Given the description of an element on the screen output the (x, y) to click on. 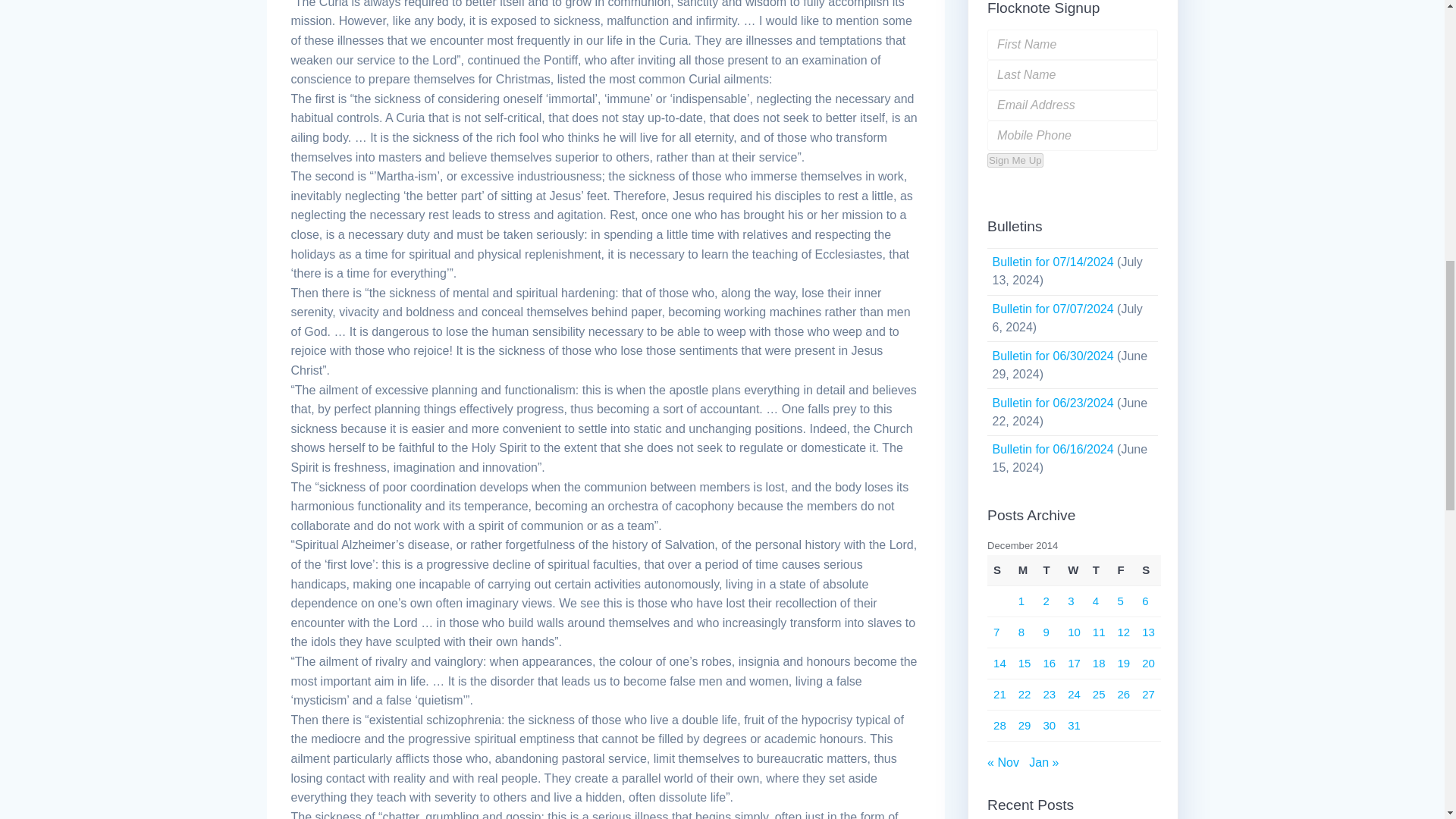
Thursday (1099, 570)
2 (1045, 600)
Friday (1124, 570)
Sunday (999, 570)
Wednesday (1073, 570)
Monday (1023, 570)
1 (1021, 600)
Sign Me Up (1015, 160)
4 (1096, 600)
Tuesday (1048, 570)
3 (1070, 600)
Saturday (1147, 570)
